Given the description of an element on the screen output the (x, y) to click on. 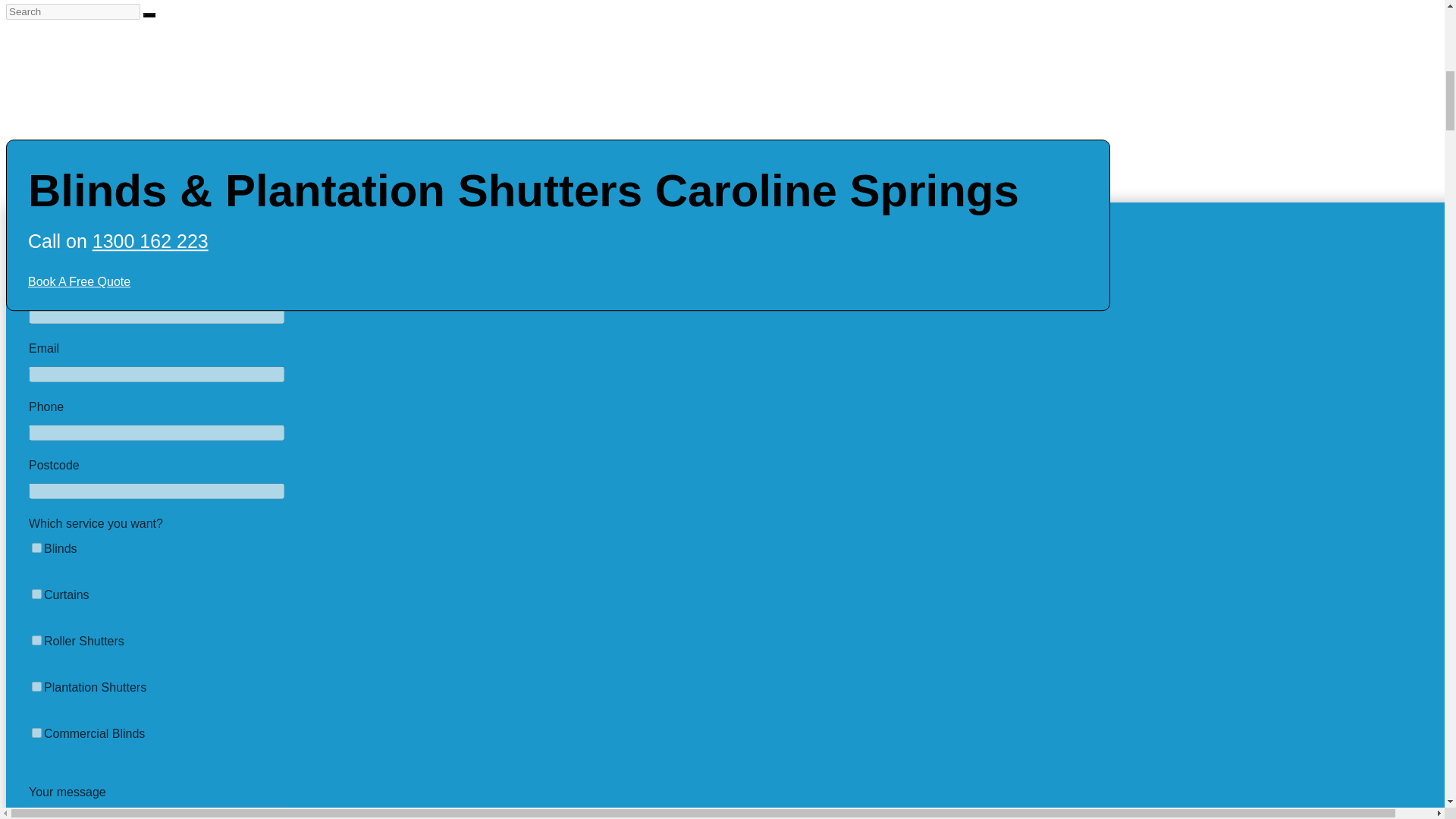
Curtains (37, 593)
Plantation Shutters (37, 685)
Commercial Blinds (37, 732)
Roller Shutters (37, 640)
Blinds (37, 547)
